Given the description of an element on the screen output the (x, y) to click on. 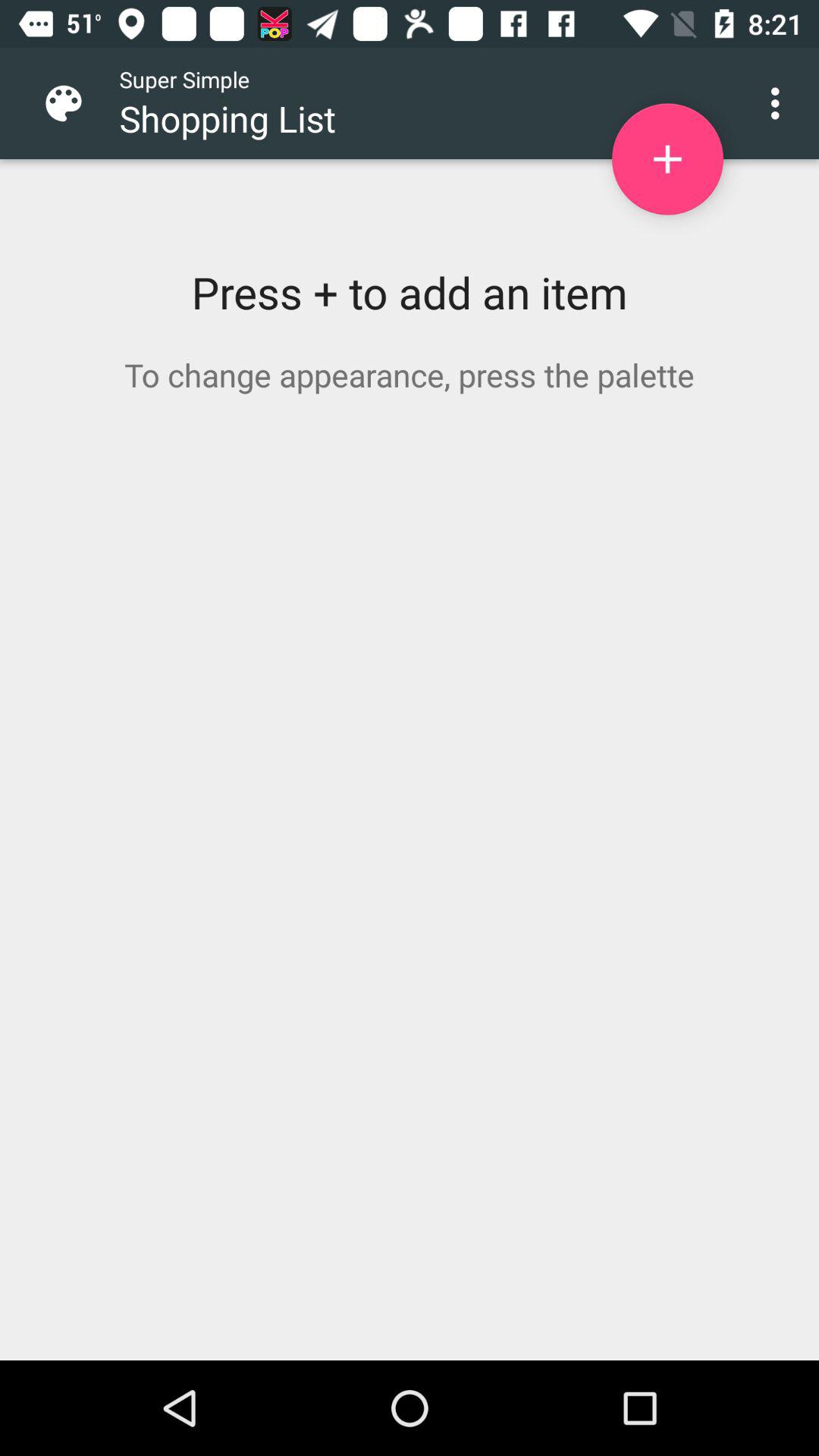
paint (75, 103)
